Given the description of an element on the screen output the (x, y) to click on. 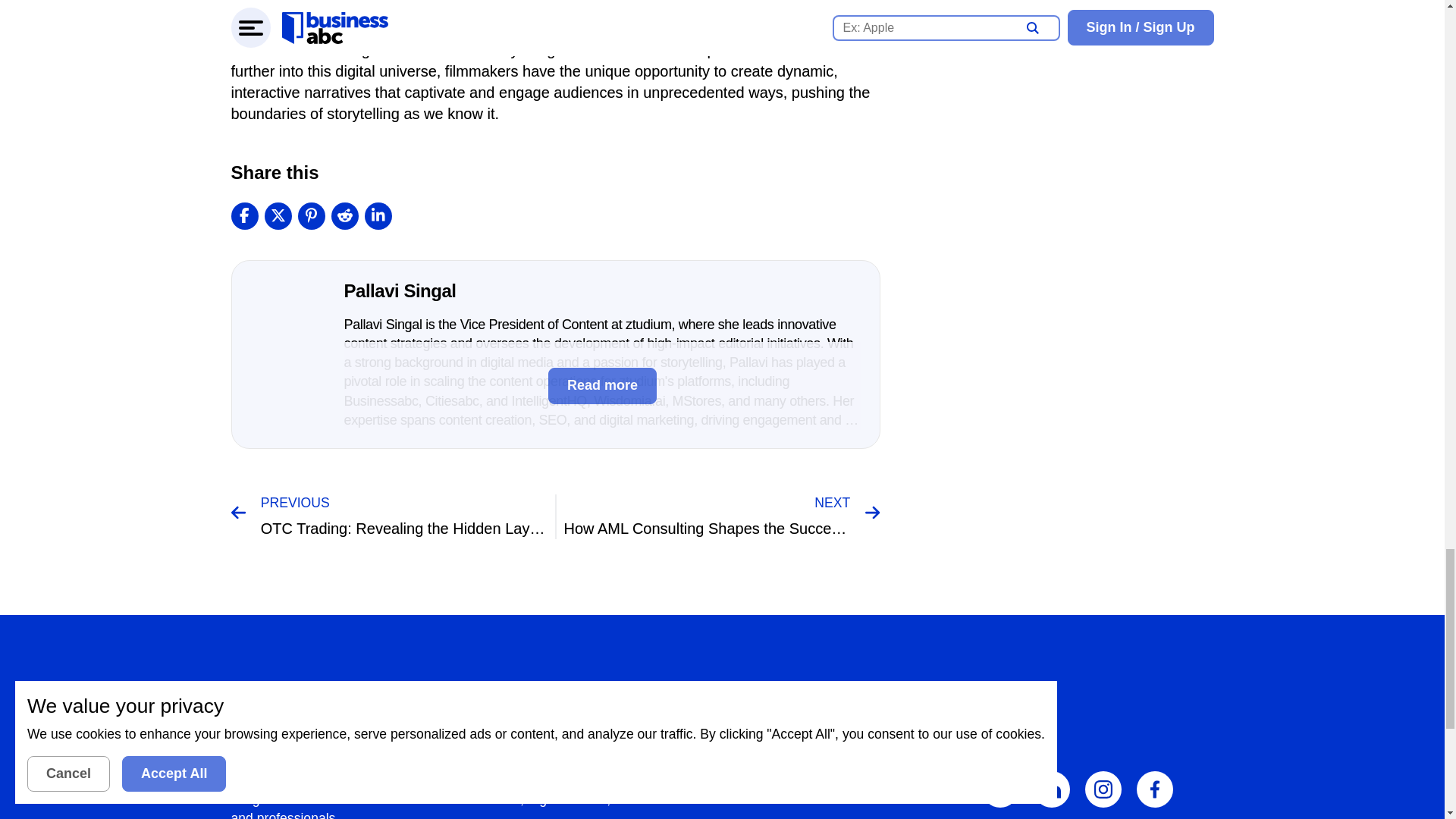
Read more (602, 385)
